Given the description of an element on the screen output the (x, y) to click on. 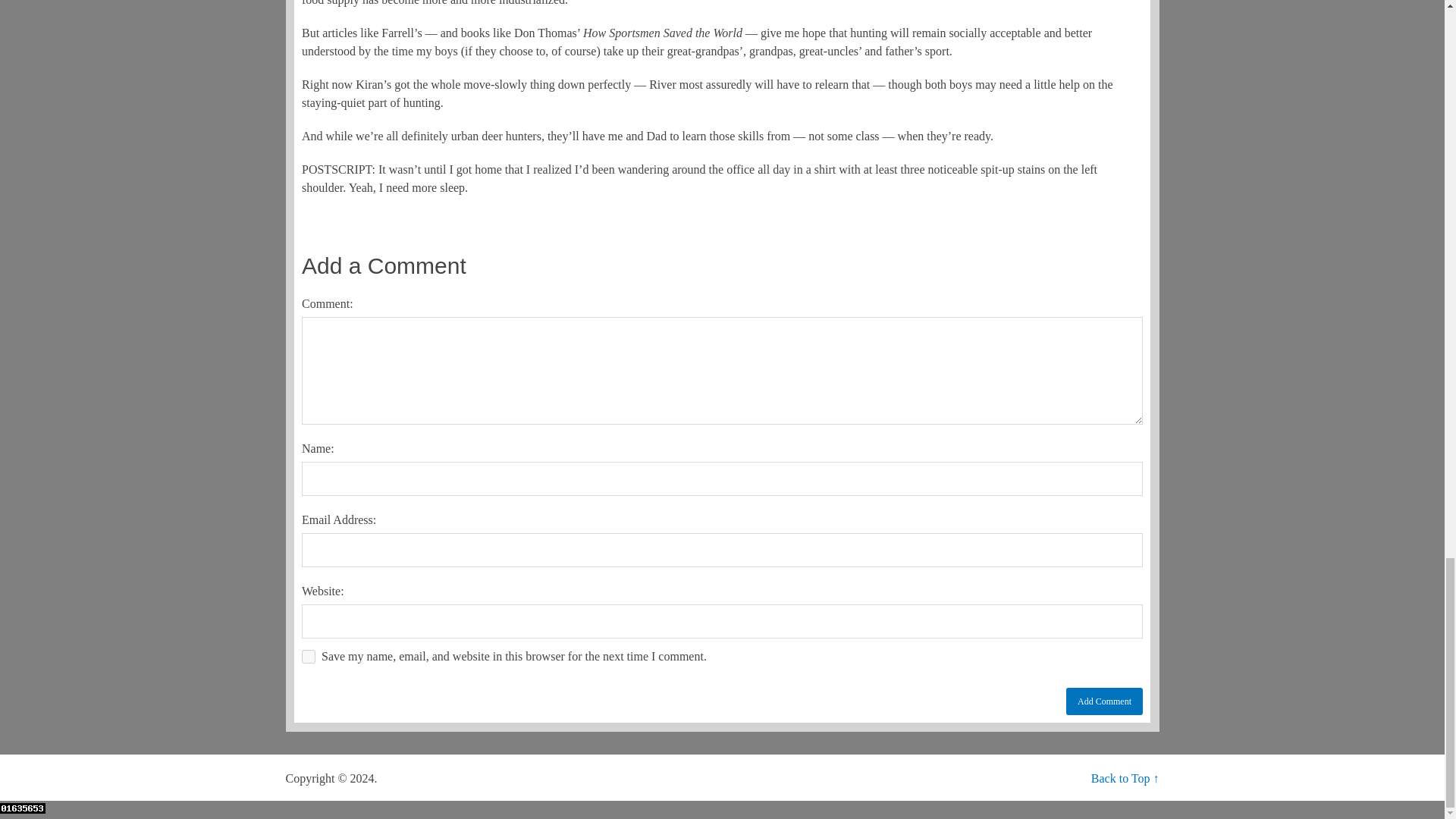
Add Comment (1103, 700)
Add Comment (1103, 700)
yes (308, 656)
